Given the description of an element on the screen output the (x, y) to click on. 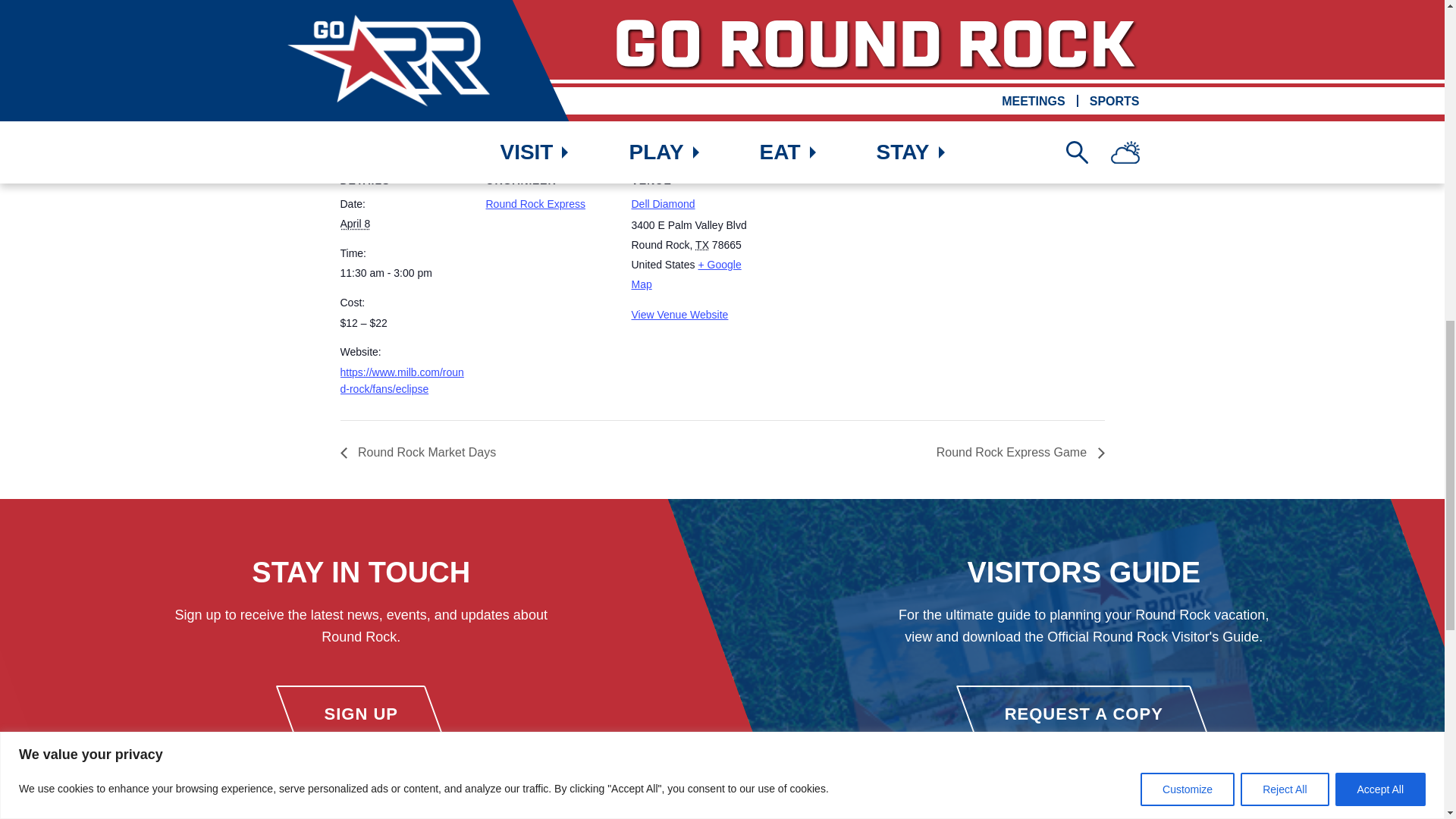
Texas (702, 244)
Google maps iframe displaying the address to Dell Diamond (856, 251)
2024-04-08 (403, 272)
Click to view a Google Map (685, 274)
Round Rock Express (534, 203)
2024-04-08 (354, 223)
